Given the description of an element on the screen output the (x, y) to click on. 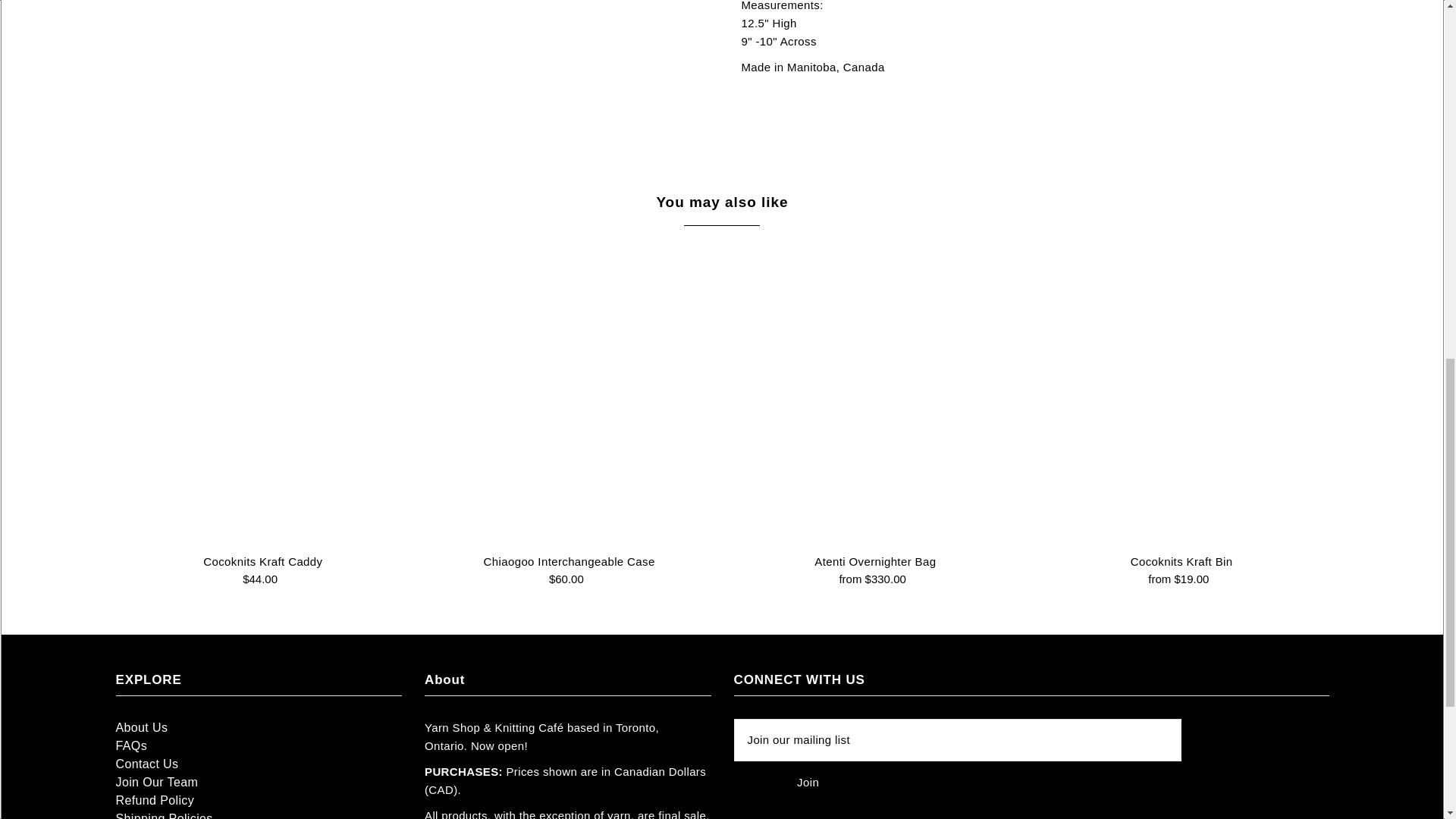
Chiaogoo Interchangeable Case (569, 395)
Atenti Overnighter Bag (875, 395)
Cocoknits Kraft Bin (1181, 395)
Cocoknits Kraft Caddy (262, 395)
Join (807, 781)
